Given the description of an element on the screen output the (x, y) to click on. 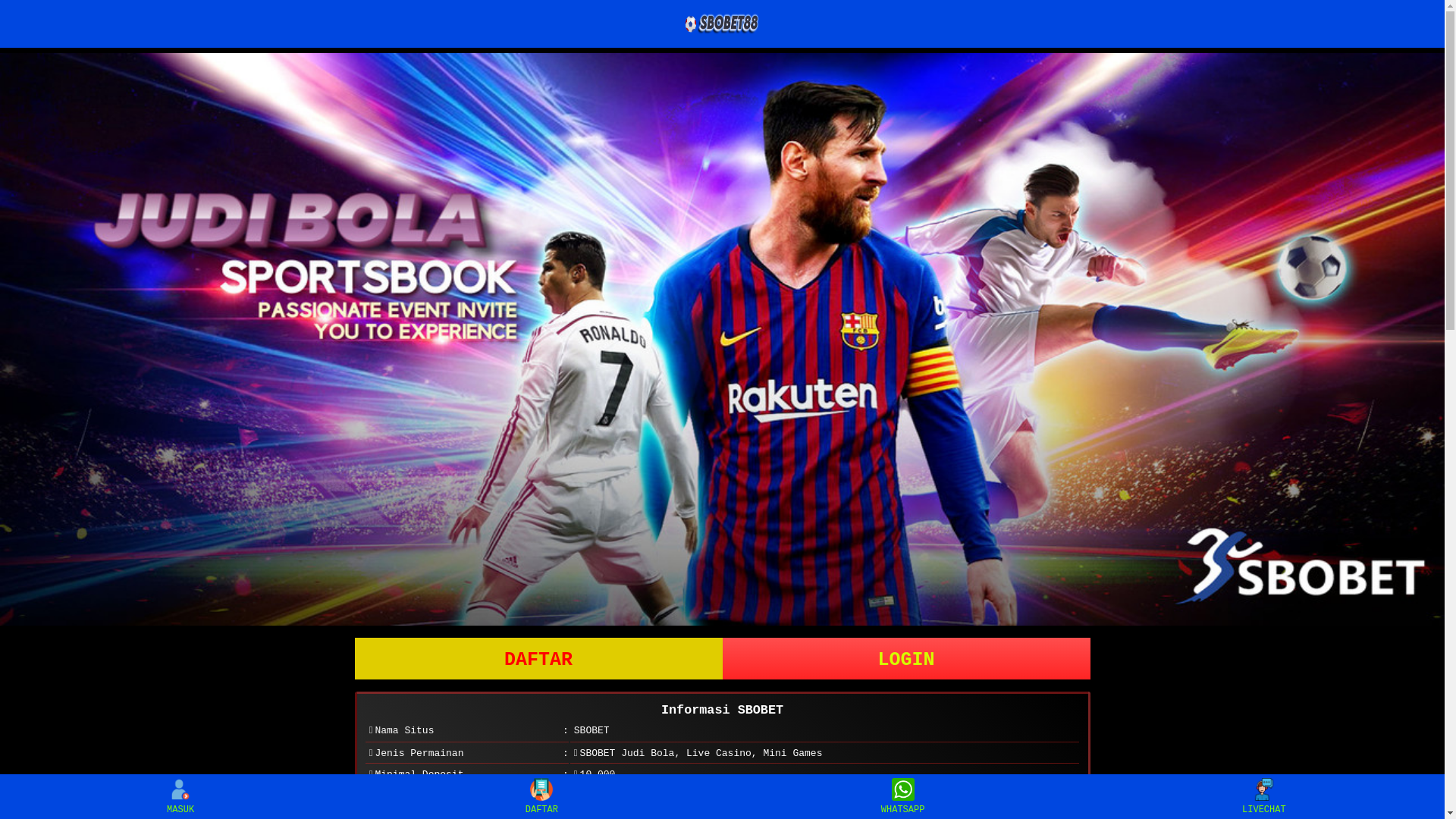
Previous item in carousel (1 of 1) Element type: hover (12, 338)
Next item in carousel (1 of 1) Element type: hover (1431, 338)
sbobet Element type: hover (722, 339)
DAFTAR Element type: text (538, 658)
LOGIN Element type: text (905, 658)
WHATSAPP Element type: text (902, 796)
DAFTAR Element type: text (541, 796)
LIVECHAT Element type: text (1263, 796)
MASUK Element type: text (180, 796)
